Given the description of an element on the screen output the (x, y) to click on. 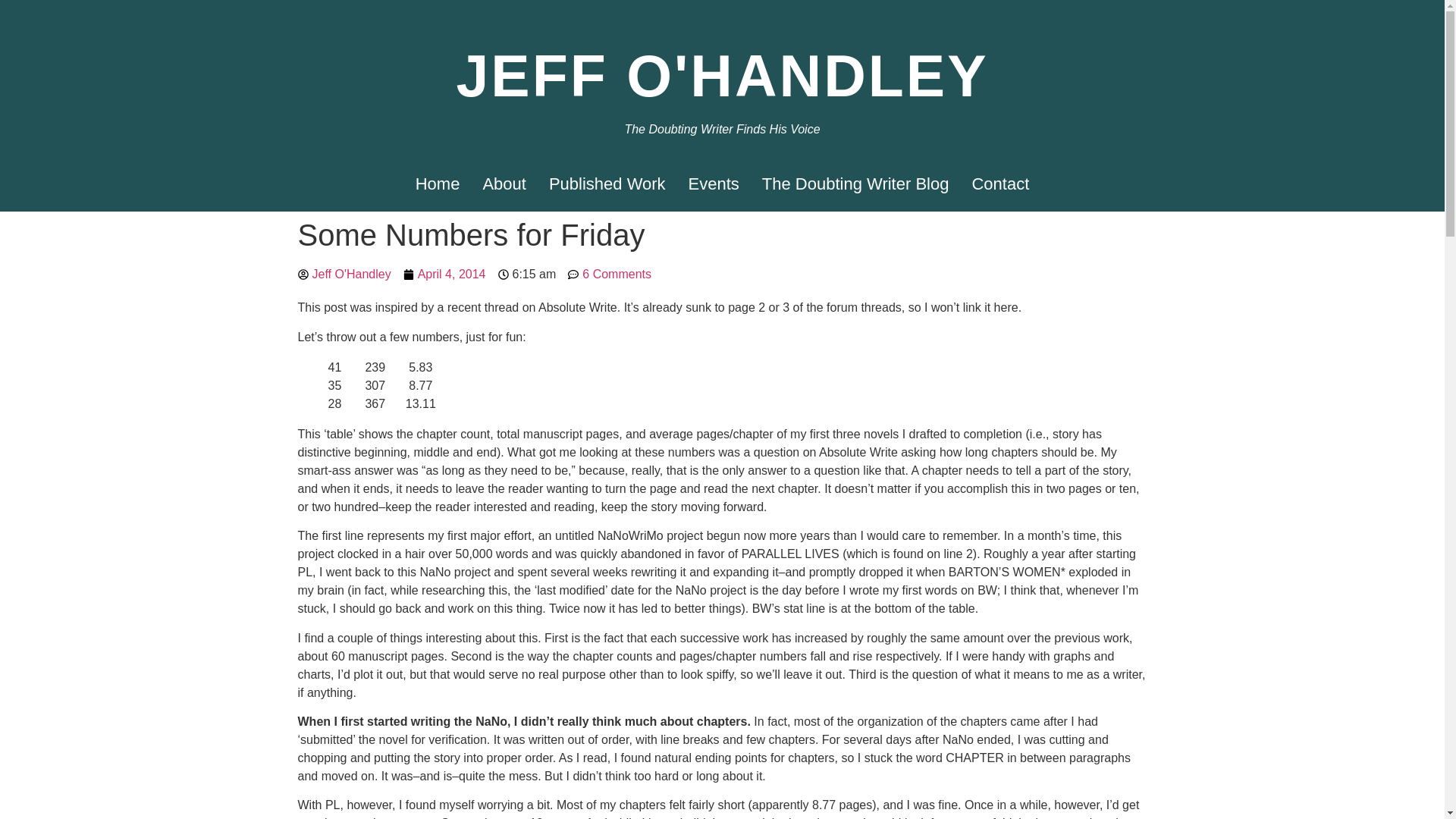
Home (437, 183)
April 4, 2014 (444, 274)
Jeff O'Handley (343, 274)
6 Comments (608, 274)
Events (714, 183)
The Doubting Writer Blog (855, 183)
About (503, 183)
Published Work (607, 183)
Contact (1000, 183)
Jeff O'Handley, Author (721, 19)
